Given the description of an element on the screen output the (x, y) to click on. 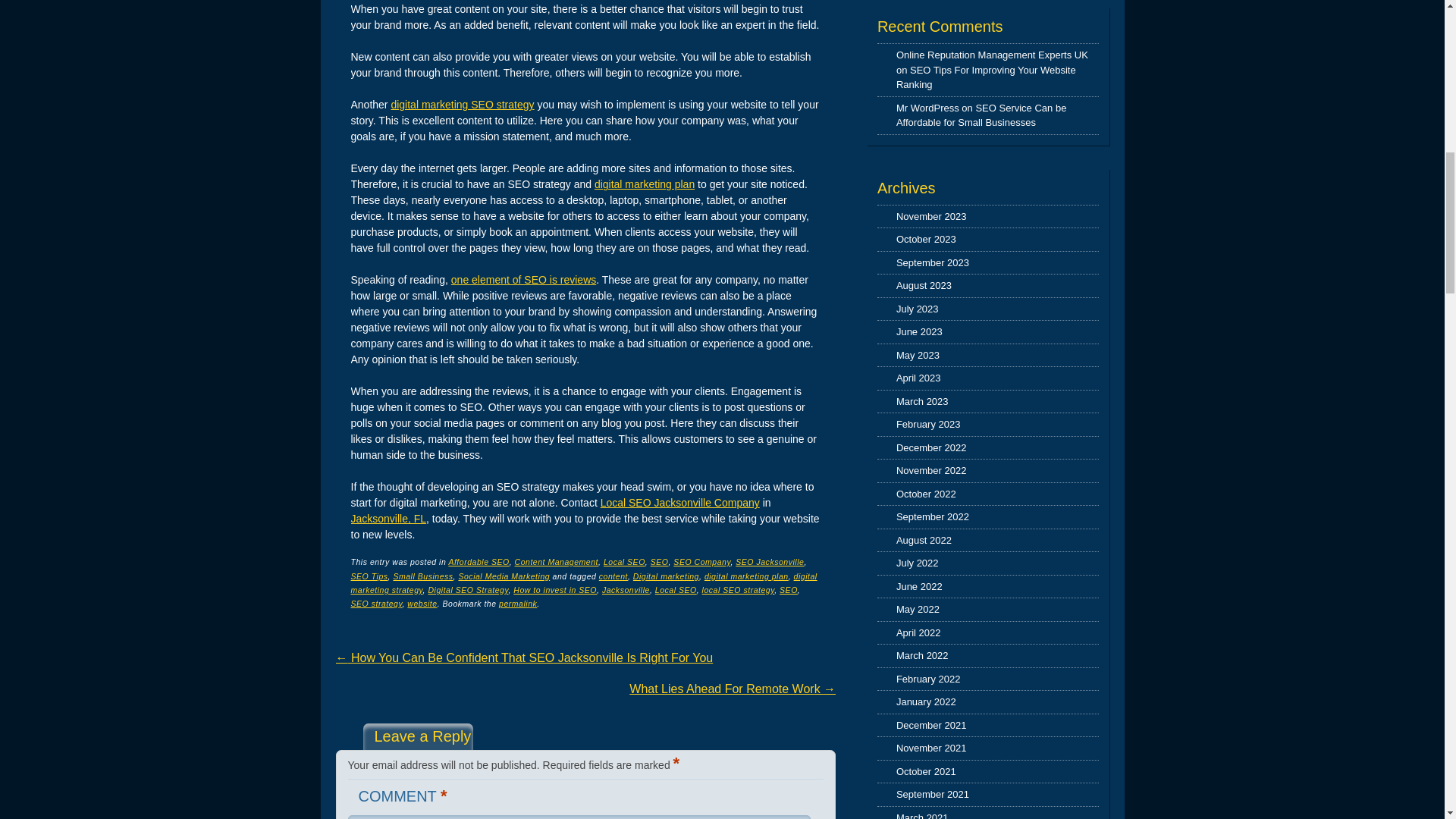
Content Management (556, 561)
digital marketing strategy (583, 582)
Local SEO Jacksonville Company (679, 502)
content (612, 575)
SEO (659, 561)
SEO Company (701, 561)
Affordable SEO (478, 561)
Jacksonville, FL (388, 518)
digital marketing plan (746, 575)
Digital marketing (665, 575)
digital marketing plan (644, 184)
SEO Jacksonville (769, 561)
Permalink to Why You Should Invest In A Digital SEO Strategy (518, 603)
Local SEO (624, 561)
SEO Tips (368, 575)
